Given the description of an element on the screen output the (x, y) to click on. 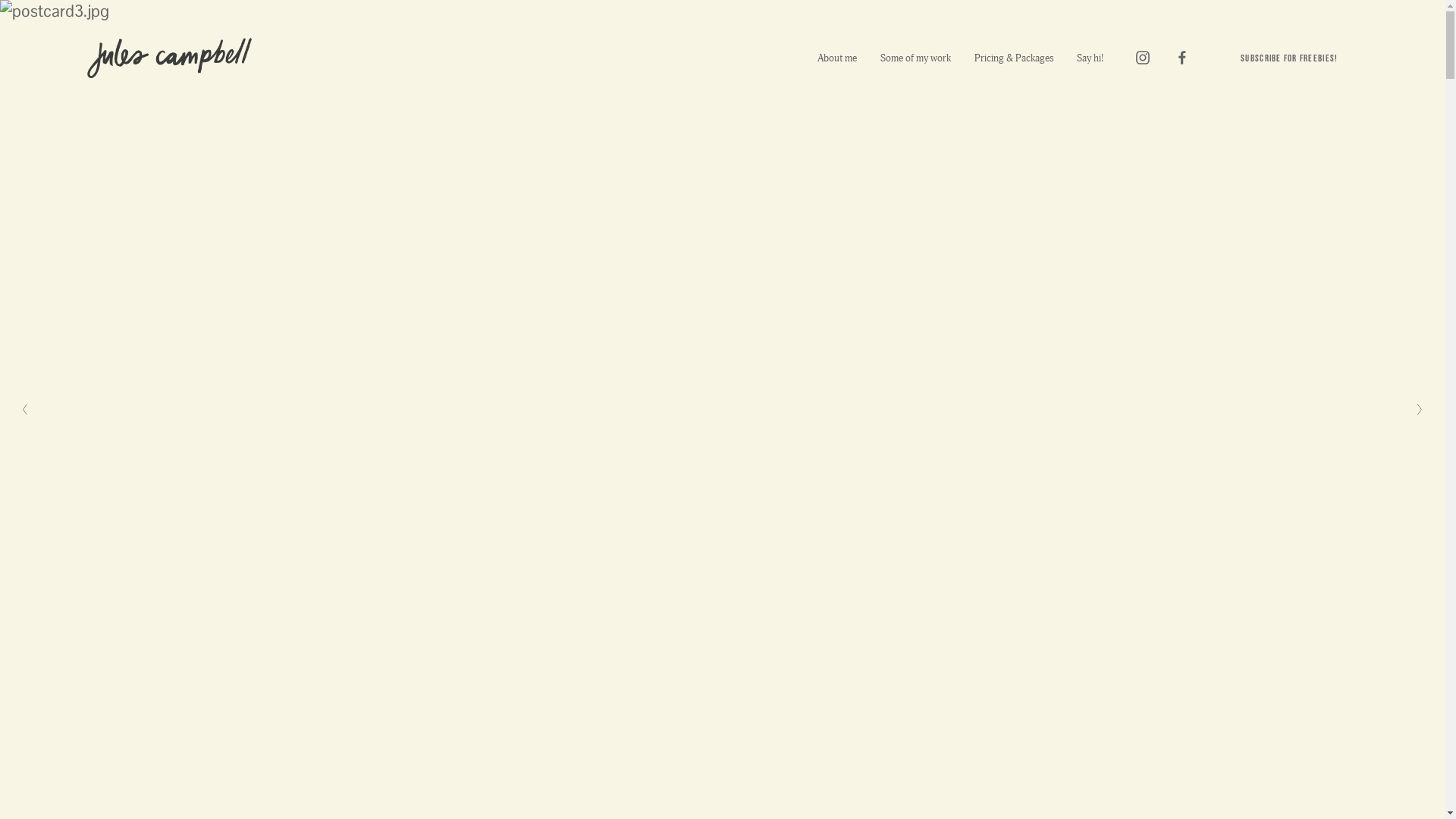
Pricing & Packages Element type: text (1014, 57)
Some of my work Element type: text (915, 57)
Say hi! Element type: text (1089, 57)
About me Element type: text (836, 57)
Subscribe For Freebies! Element type: text (1289, 57)
